Given the description of an element on the screen output the (x, y) to click on. 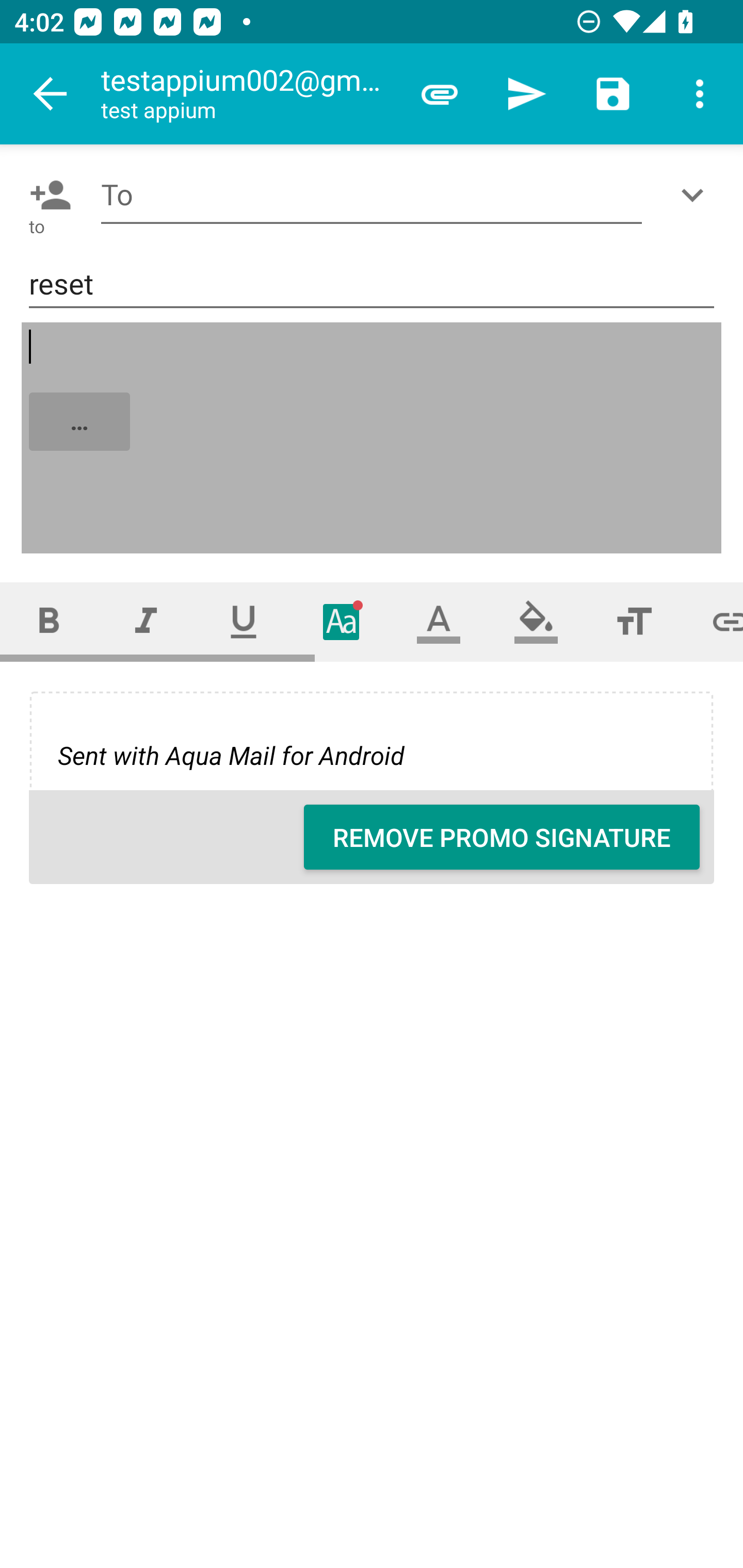
Navigate up (50, 93)
testappium002@gmail.com test appium (248, 93)
Attach (439, 93)
Send (525, 93)
Save (612, 93)
More options (699, 93)
Pick contact: To (46, 195)
Show/Add CC/BCC (696, 195)
To (371, 195)
reset (371, 284)

…
 (372, 438)
Bold (48, 621)
Italic (145, 621)
Underline (243, 621)
Typeface (font) (341, 621)
Text color (438, 621)
Fill color (536, 621)
Font size (633, 621)
REMOVE PROMO SIGNATURE (501, 837)
